Given the description of an element on the screen output the (x, y) to click on. 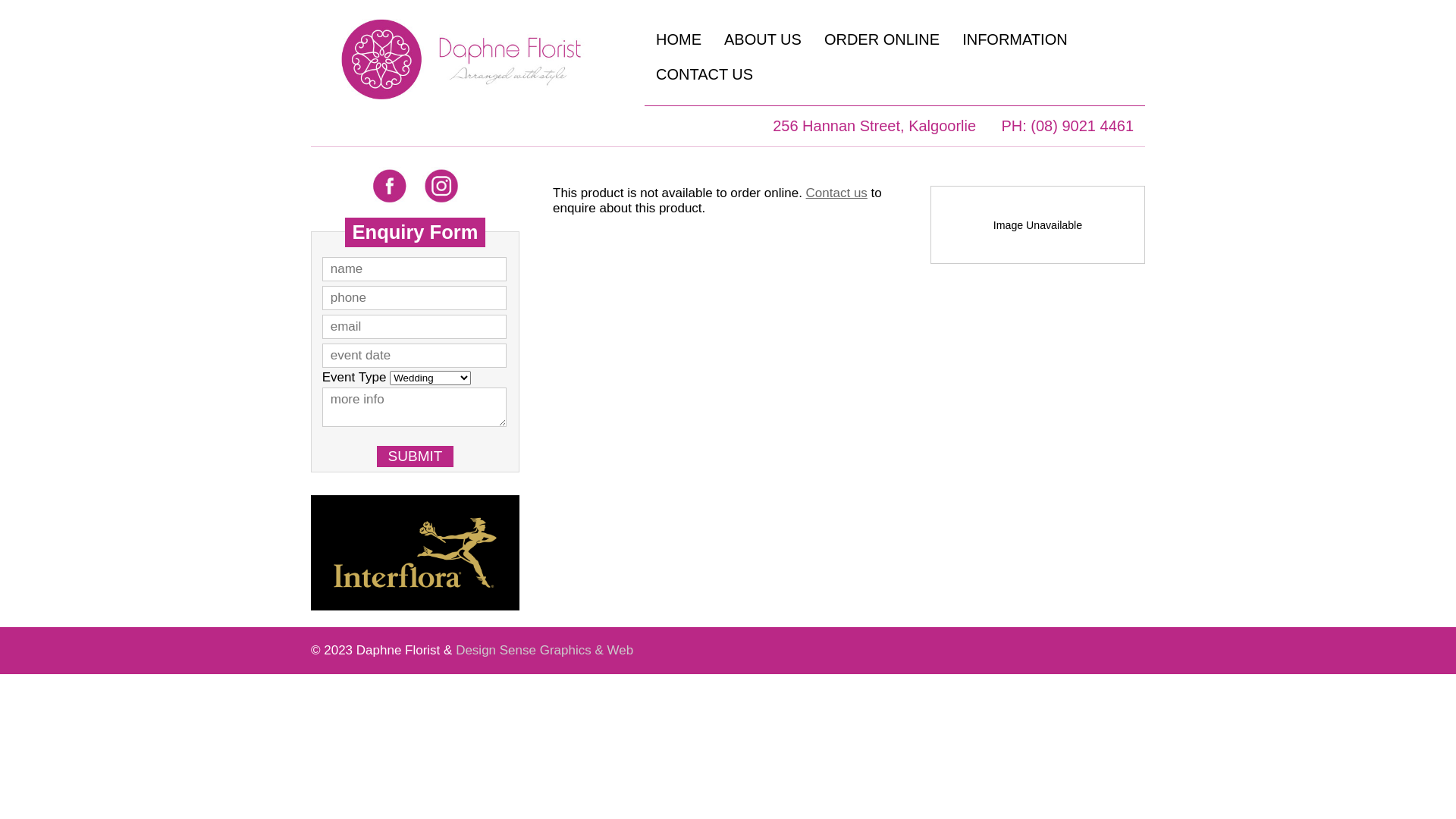
ORDER ONLINE Element type: text (881, 39)
CONTACT US Element type: text (704, 74)
INFORMATION Element type: text (1014, 39)
Design Sense Graphics & Web Element type: text (544, 650)
ABOUT US Element type: text (762, 39)
HOME Element type: text (678, 39)
SUBMIT Element type: text (415, 456)
Contact us Element type: text (836, 192)
